Given the description of an element on the screen output the (x, y) to click on. 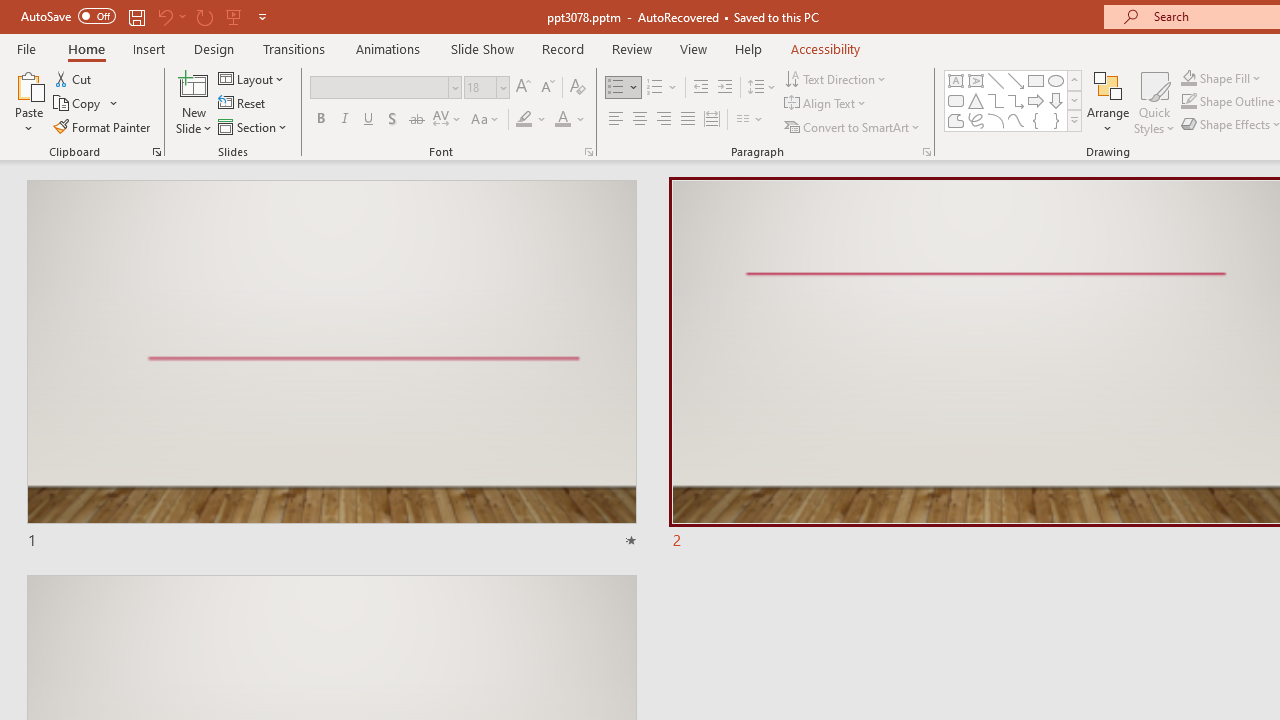
Shape Outline Green, Accent 1 (1188, 101)
